Given the description of an element on the screen output the (x, y) to click on. 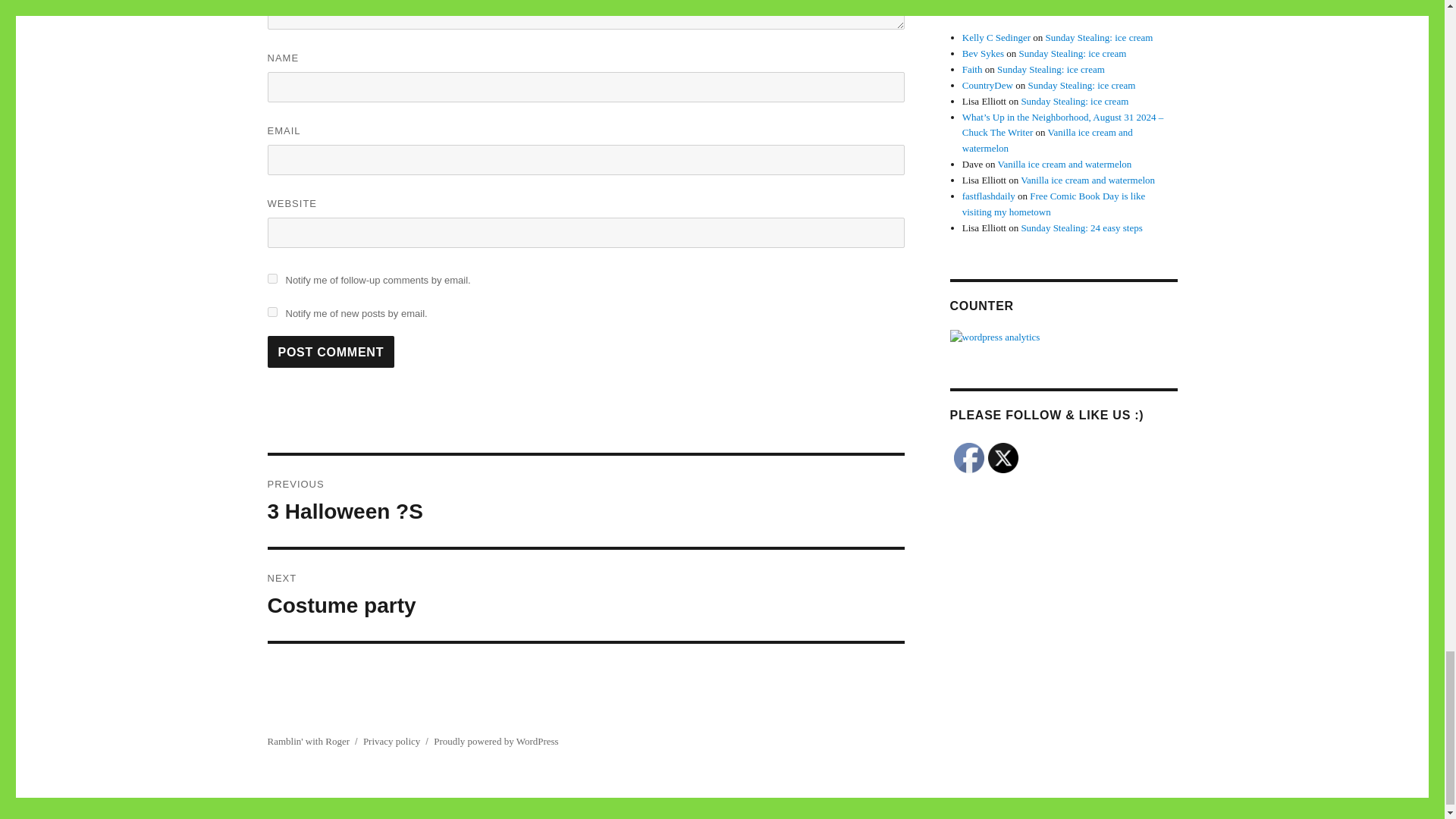
subscribe (271, 311)
Post Comment (585, 594)
Post Comment (330, 351)
subscribe (330, 351)
